Given the description of an element on the screen output the (x, y) to click on. 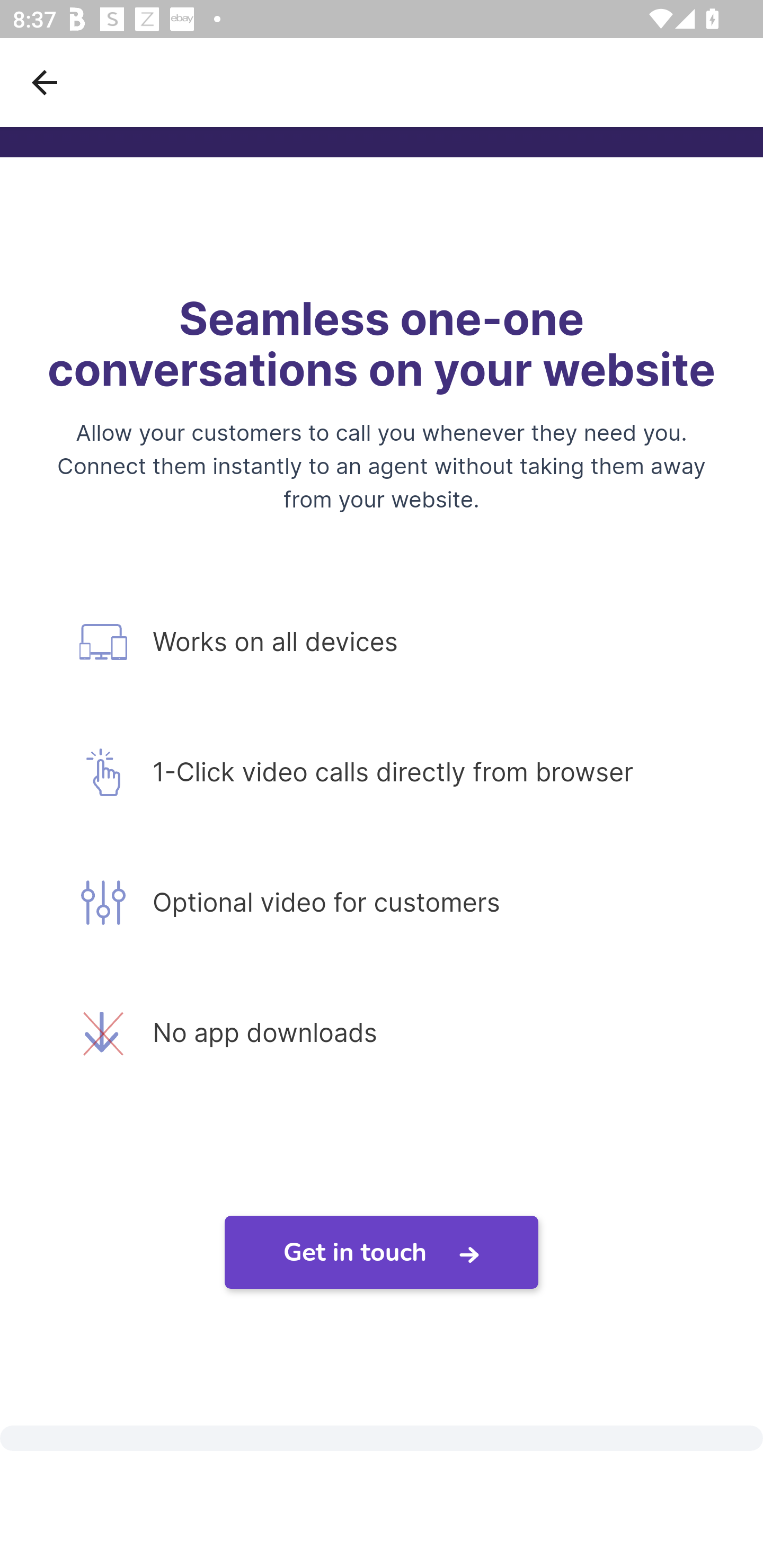
Navigate up (44, 82)
